Given the description of an element on the screen output the (x, y) to click on. 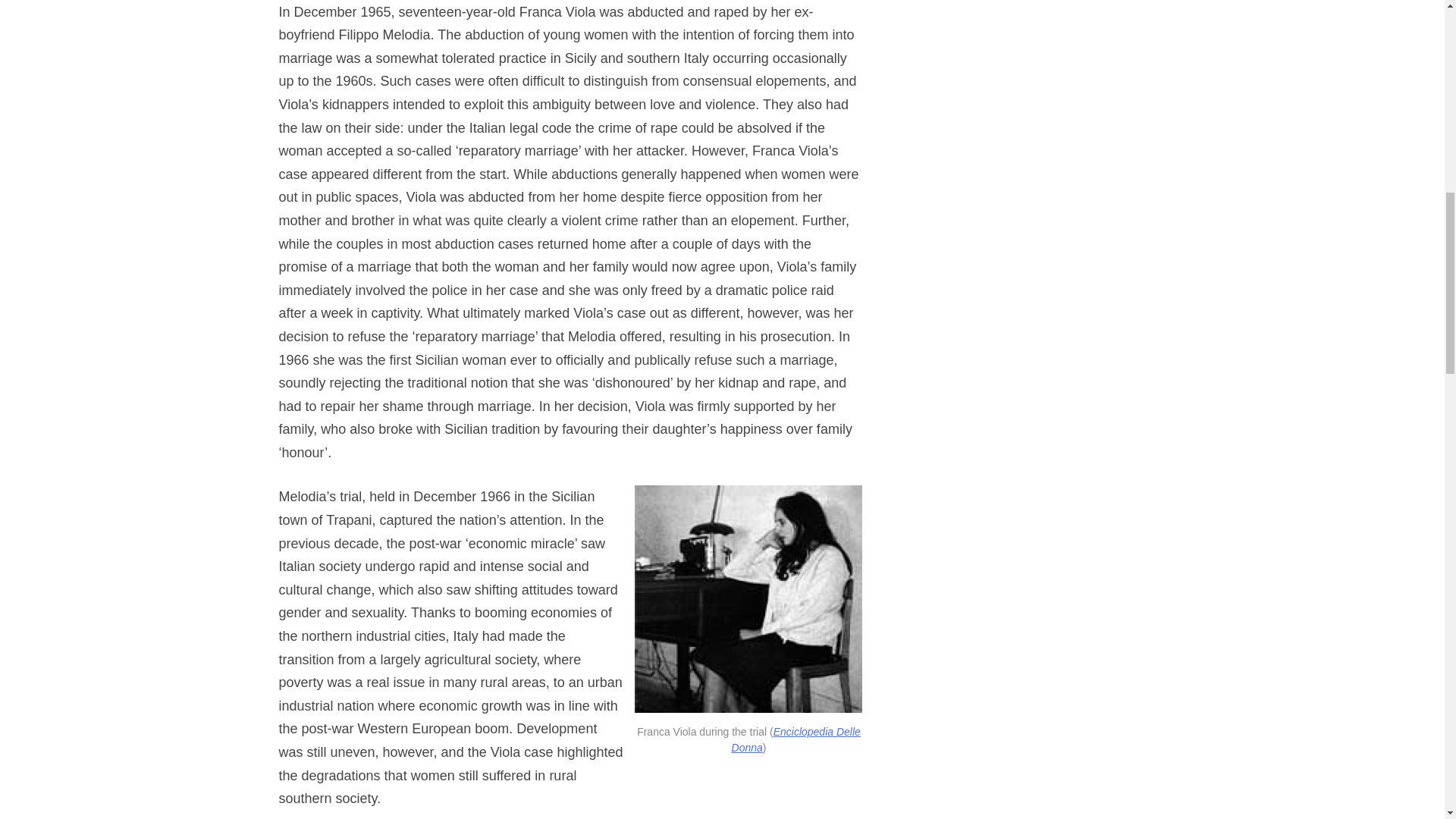
Enciclopedia Delle Donna (796, 739)
